Given the description of an element on the screen output the (x, y) to click on. 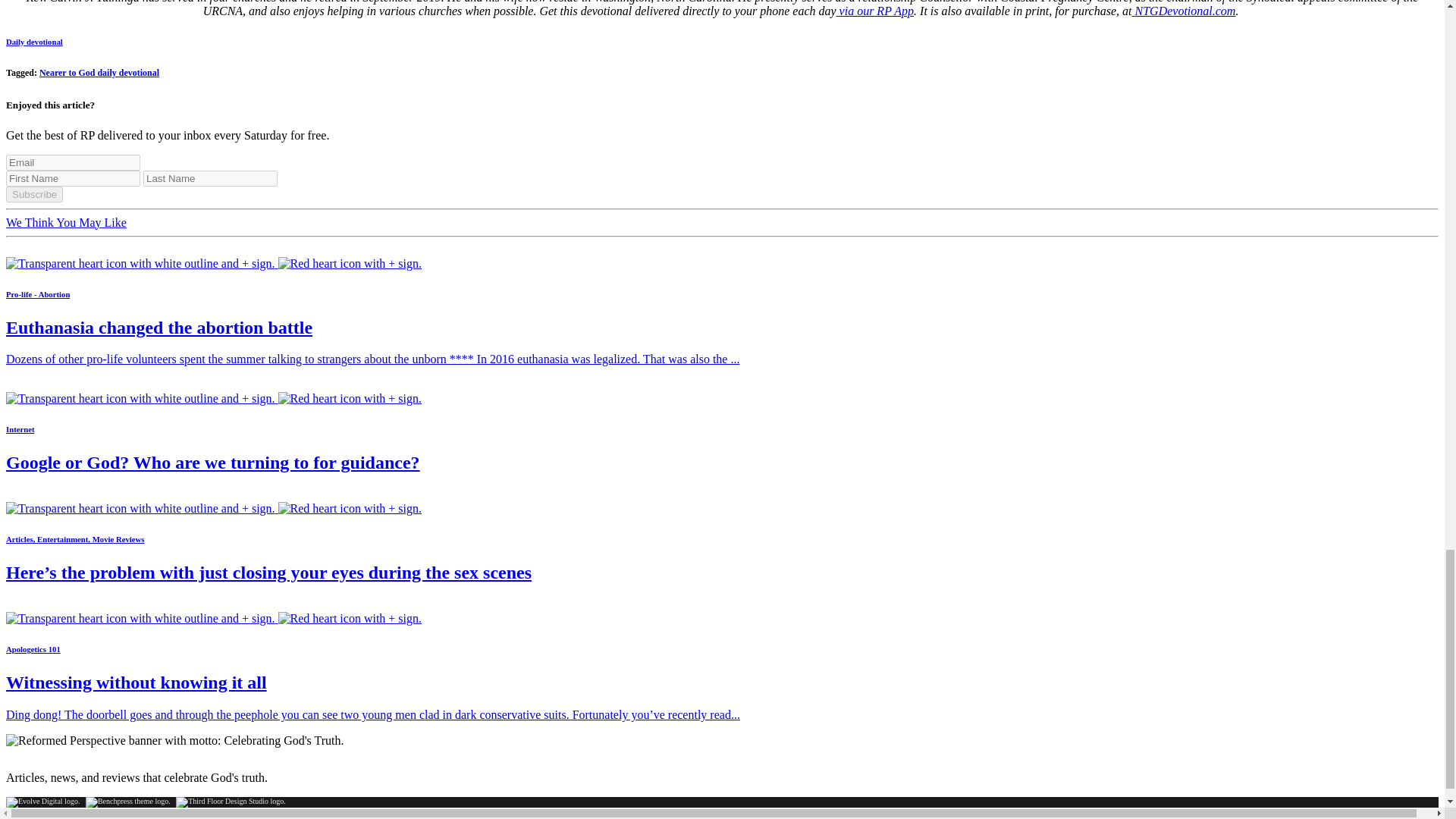
Subscribe to RP (213, 508)
Subscribe to RP (213, 617)
Subscribe (33, 194)
via our RP App (874, 10)
Nearer to God daily devotional (98, 72)
Subscribe to RP (213, 263)
Subscribe to RP (213, 398)
NTGDevotional.com (1182, 10)
Daily devotional (33, 40)
